Given the description of an element on the screen output the (x, y) to click on. 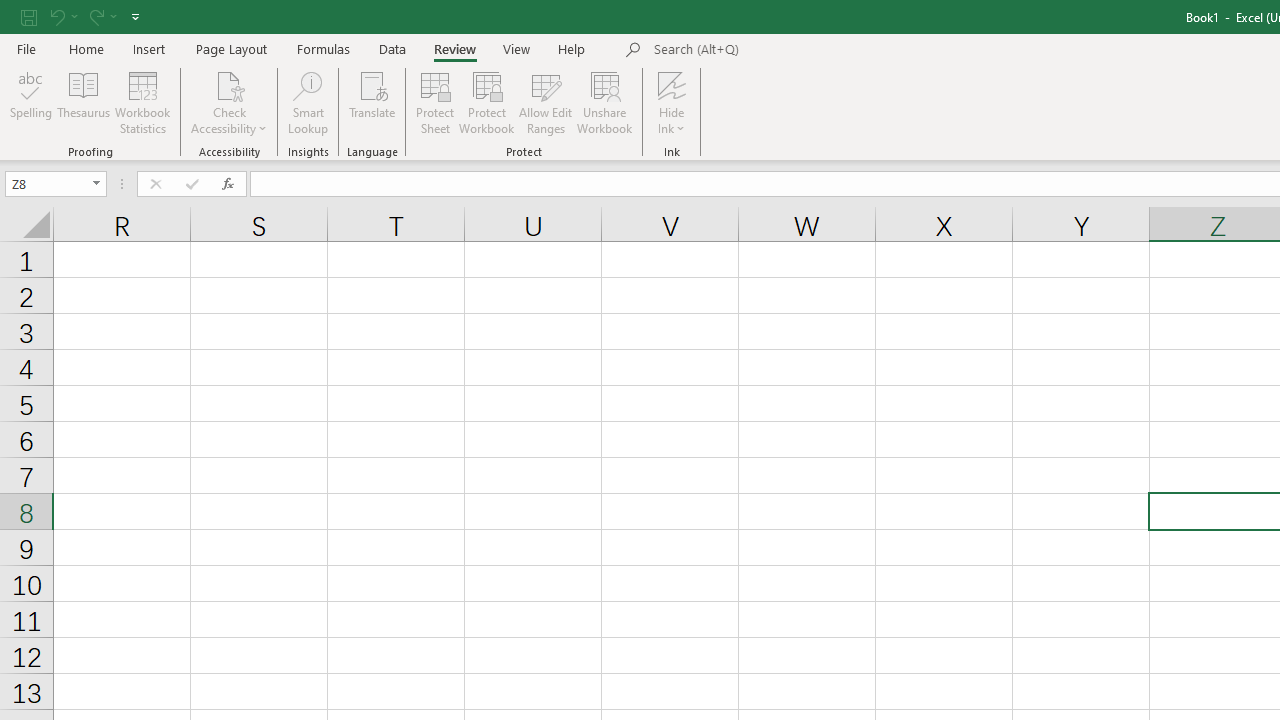
Unshare Workbook (604, 102)
Smart Lookup (308, 102)
Protect Workbook... (486, 102)
Hide Ink (671, 84)
Hide Ink (671, 102)
